Given the description of an element on the screen output the (x, y) to click on. 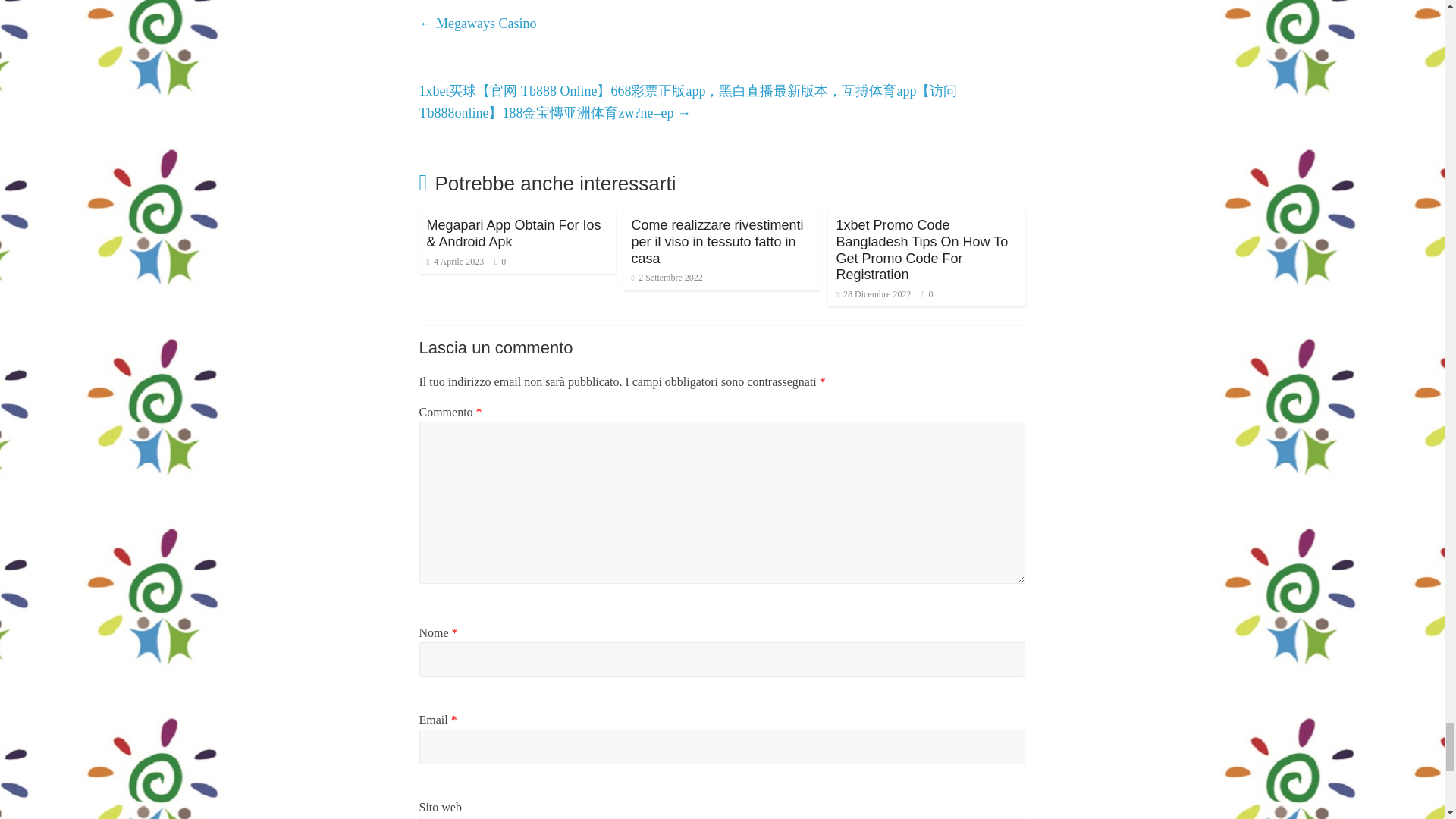
20:59 (454, 261)
08:54 (873, 294)
07:58 (665, 276)
